Given the description of an element on the screen output the (x, y) to click on. 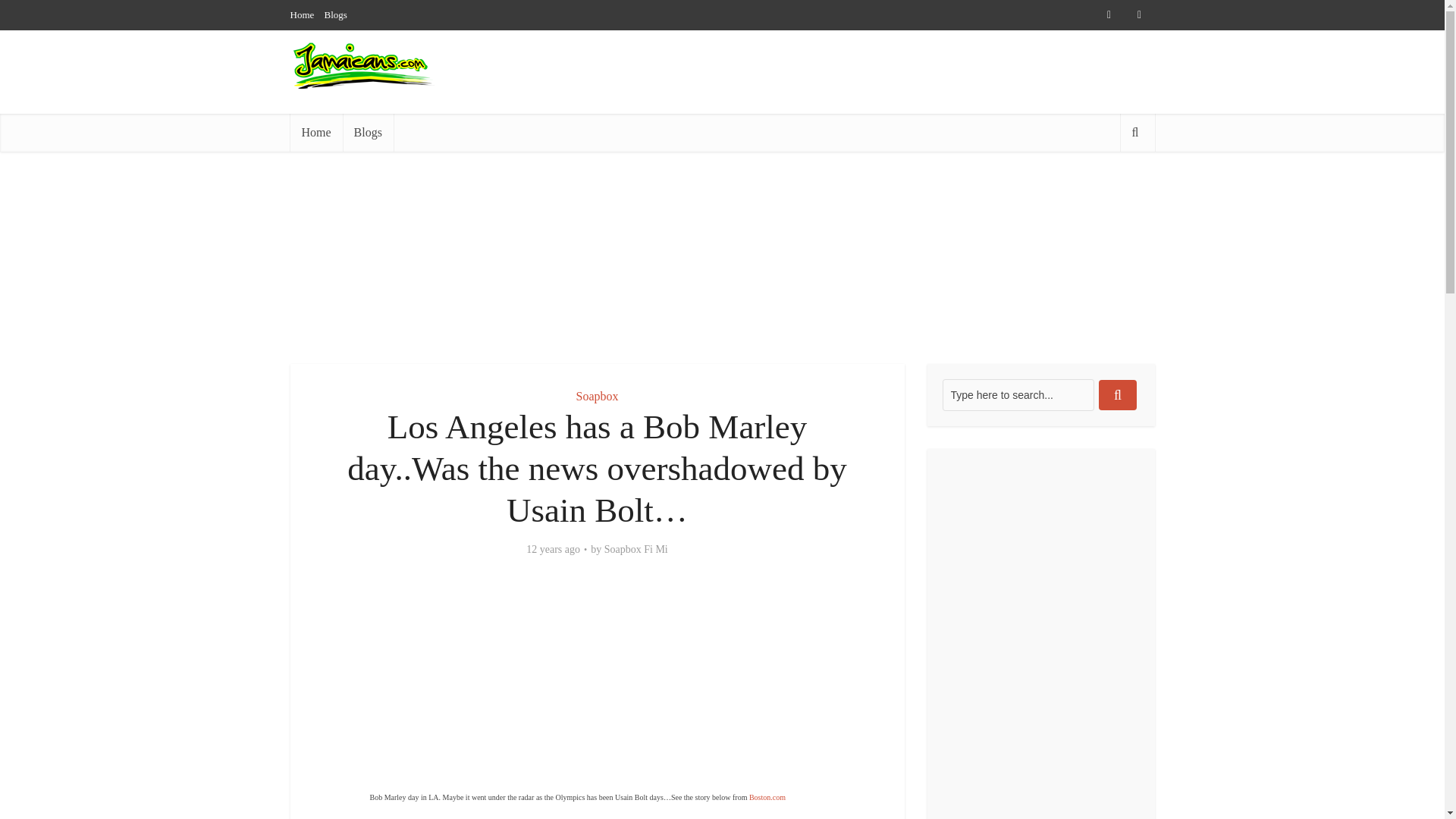
Soapbox (597, 395)
Advertisement (597, 685)
Type here to search... (1017, 395)
Boston.com (767, 797)
Type here to search... (1017, 395)
Blogs (335, 14)
Home (301, 14)
Advertisement (878, 143)
Blogs (367, 132)
Soapbox Fi Mi (636, 549)
Home (315, 132)
